Given the description of an element on the screen output the (x, y) to click on. 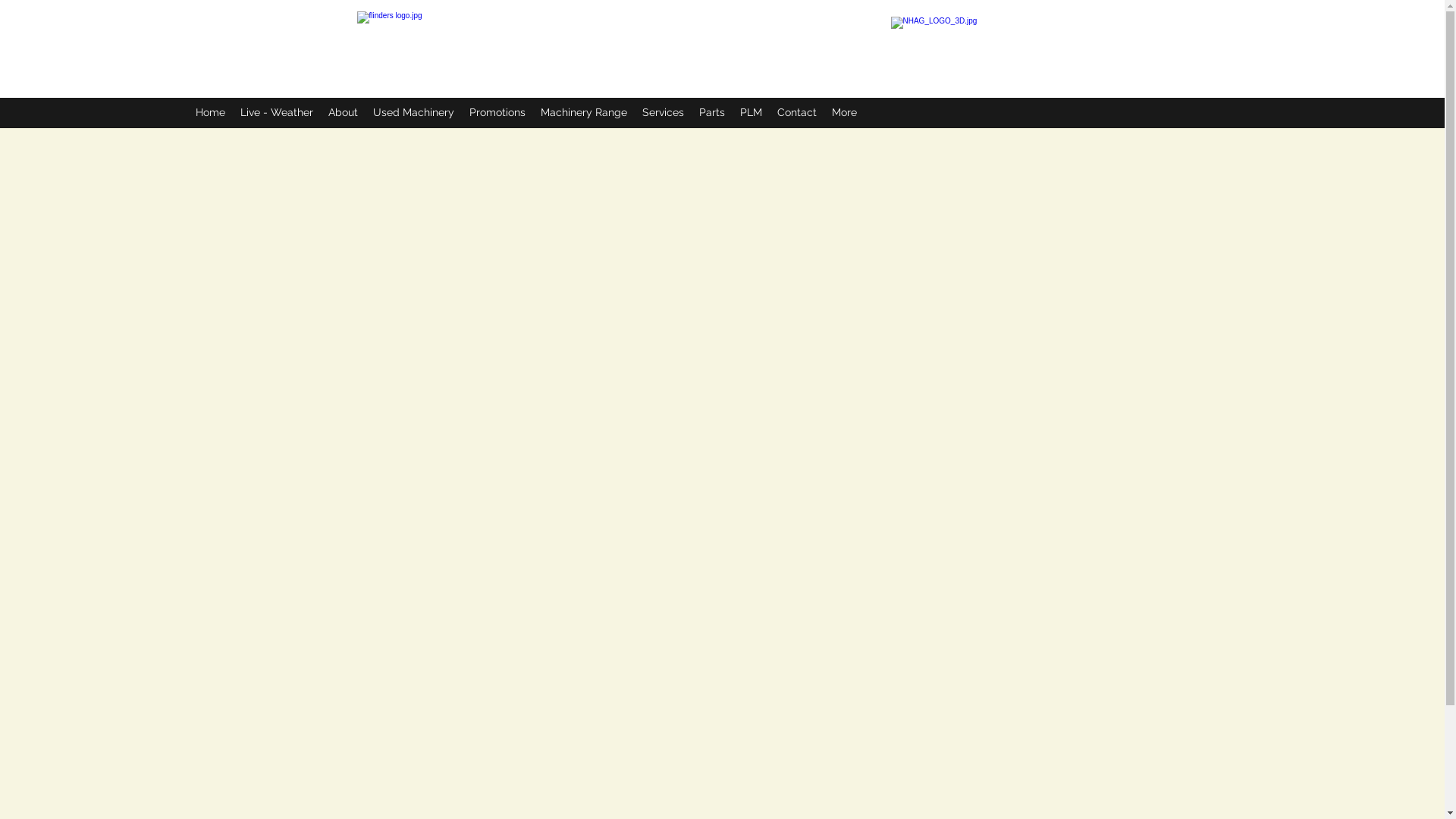
Contact Element type: text (796, 111)
Services Element type: text (662, 111)
Home Element type: text (210, 111)
Machinery Range Element type: text (583, 111)
Used Machinery Element type: text (413, 111)
Promotions Element type: text (497, 111)
About Element type: text (342, 111)
Live - Weather Element type: text (276, 111)
PLM Element type: text (750, 111)
Parts Element type: text (711, 111)
